Given the description of an element on the screen output the (x, y) to click on. 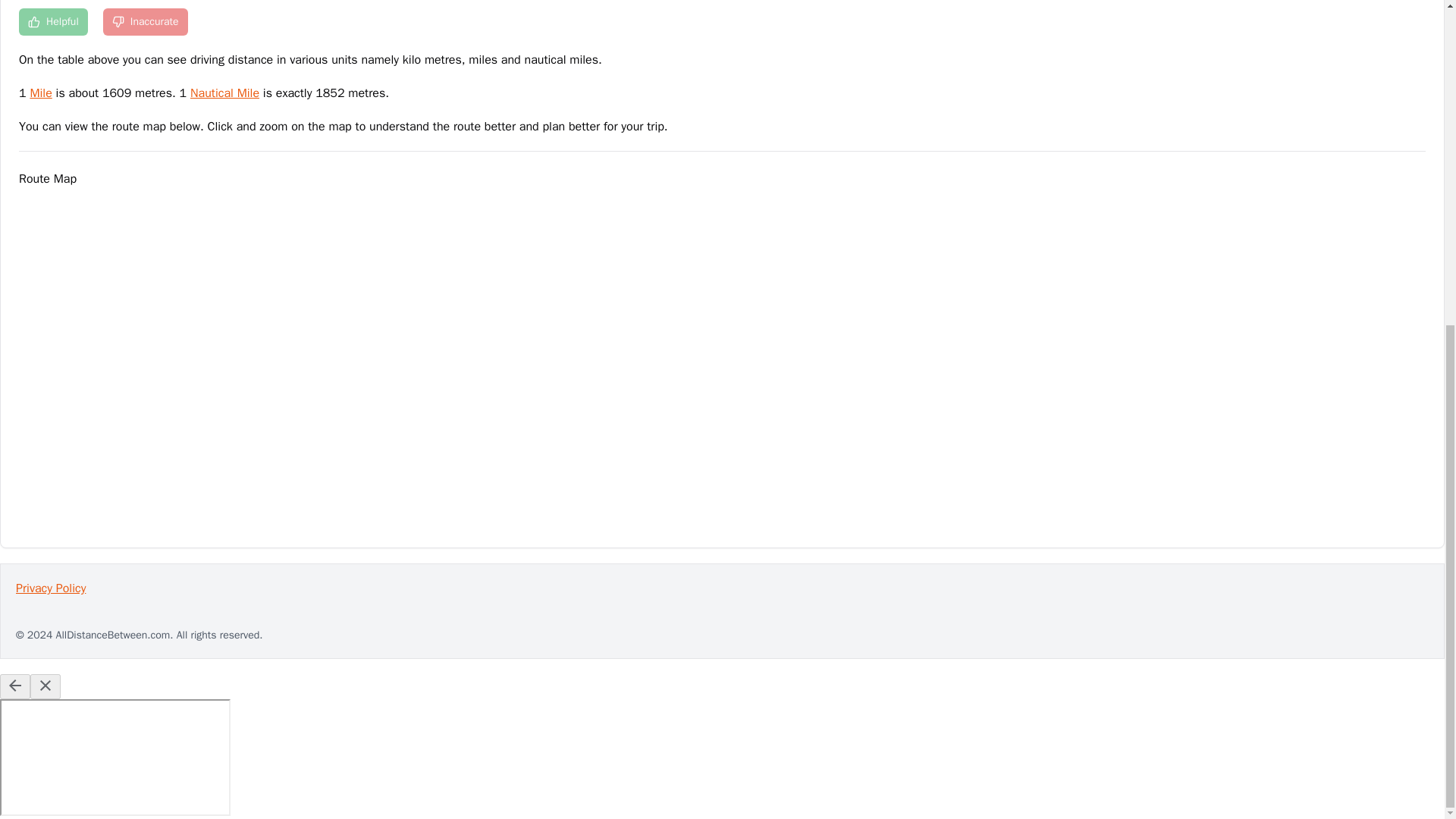
Inaccurate (145, 22)
Helpful (52, 22)
Privacy Policy (722, 588)
Mile (39, 92)
Nautical Mile (224, 92)
